Given the description of an element on the screen output the (x, y) to click on. 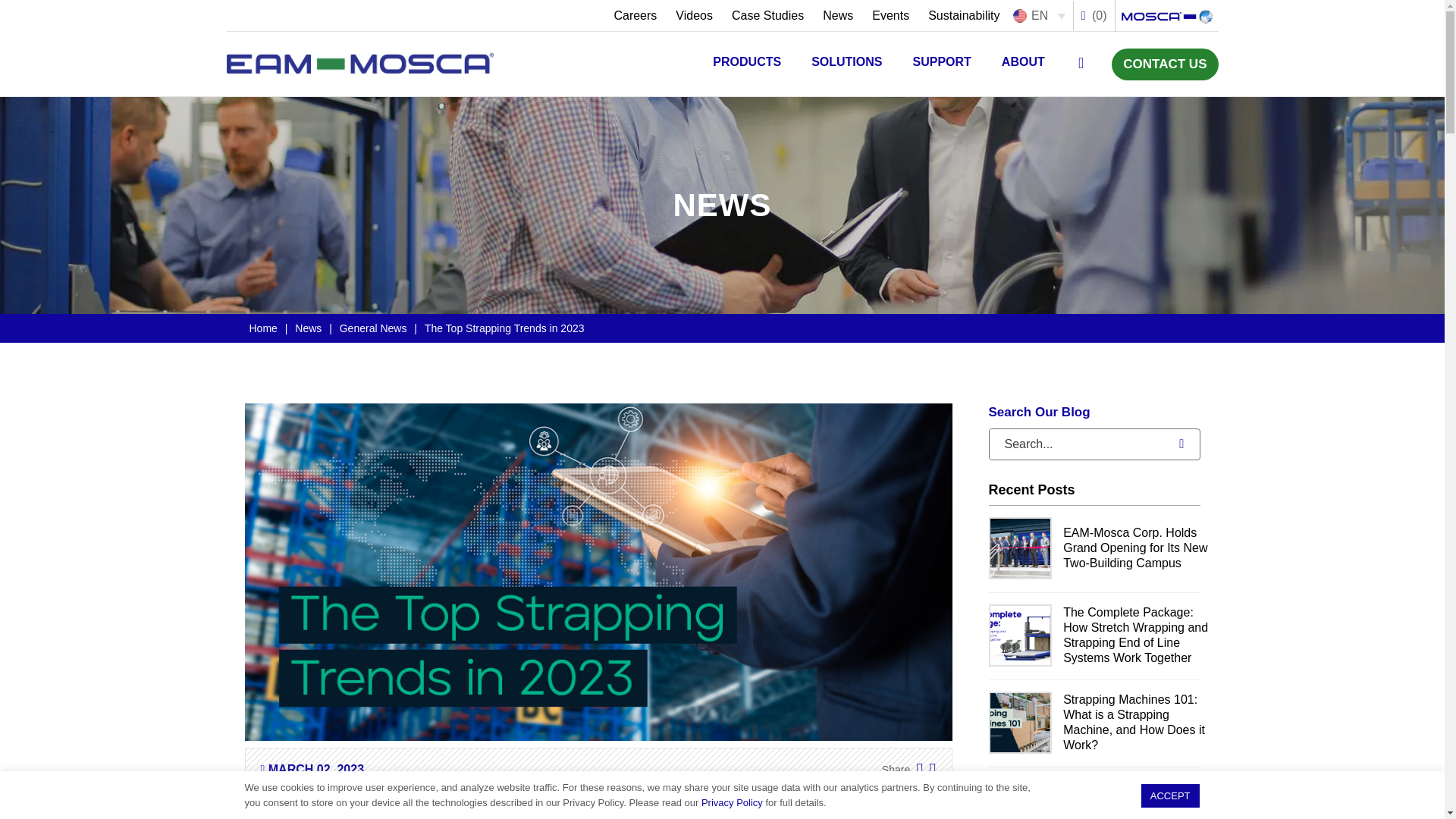
SOLUTIONS (846, 64)
Videos (694, 15)
Go to Mosca Global (1166, 14)
EN (1040, 15)
Search... (1075, 444)
News (837, 15)
Search... (1075, 444)
Case Studies (766, 15)
Events (890, 15)
Careers (634, 15)
PRODUCTS (746, 64)
Sustainability (959, 15)
